Given the description of an element on the screen output the (x, y) to click on. 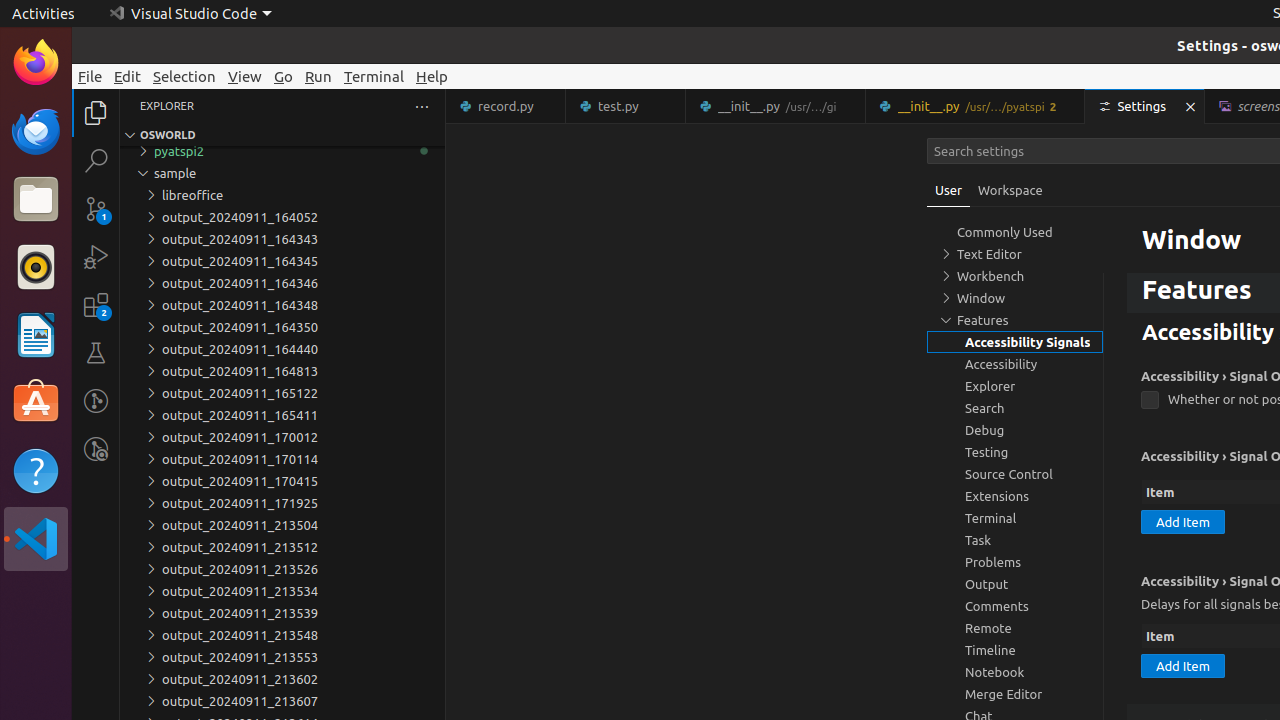
Features, group Element type: tree-item (1015, 320)
Remote, group Element type: tree-item (1015, 628)
output_20240911_170415 Element type: tree-item (282, 481)
Firefox Web Browser Element type: push-button (36, 63)
